Given the description of an element on the screen output the (x, y) to click on. 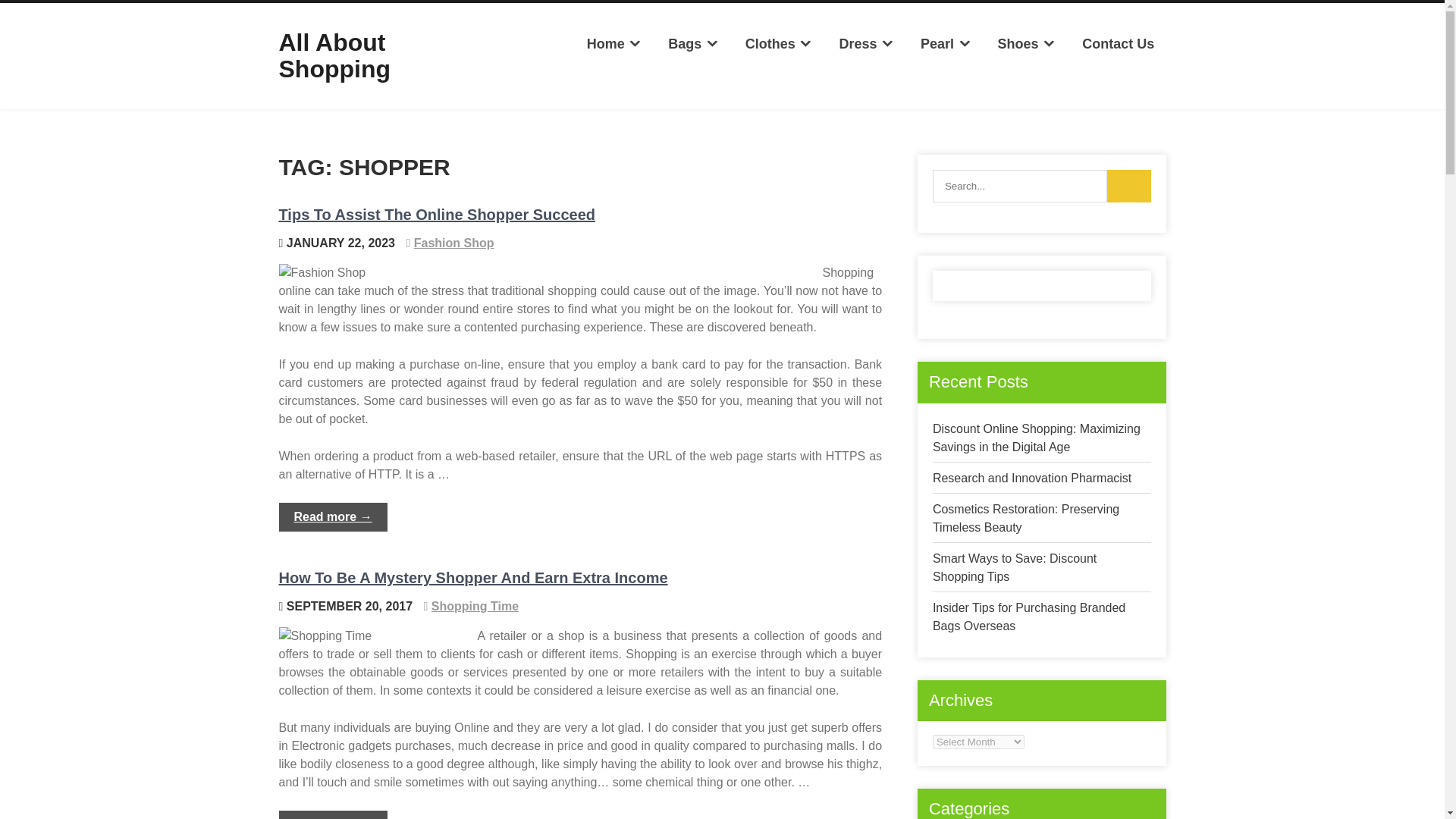
Contact Us (1118, 44)
Shopping Time (474, 605)
Bags (693, 44)
Dress (866, 44)
Search (1128, 185)
Pearl (945, 44)
Search (1128, 185)
How To Be A Mystery Shopper And Earn Extra Income (473, 577)
All About Shopping (335, 55)
